Given the description of an element on the screen output the (x, y) to click on. 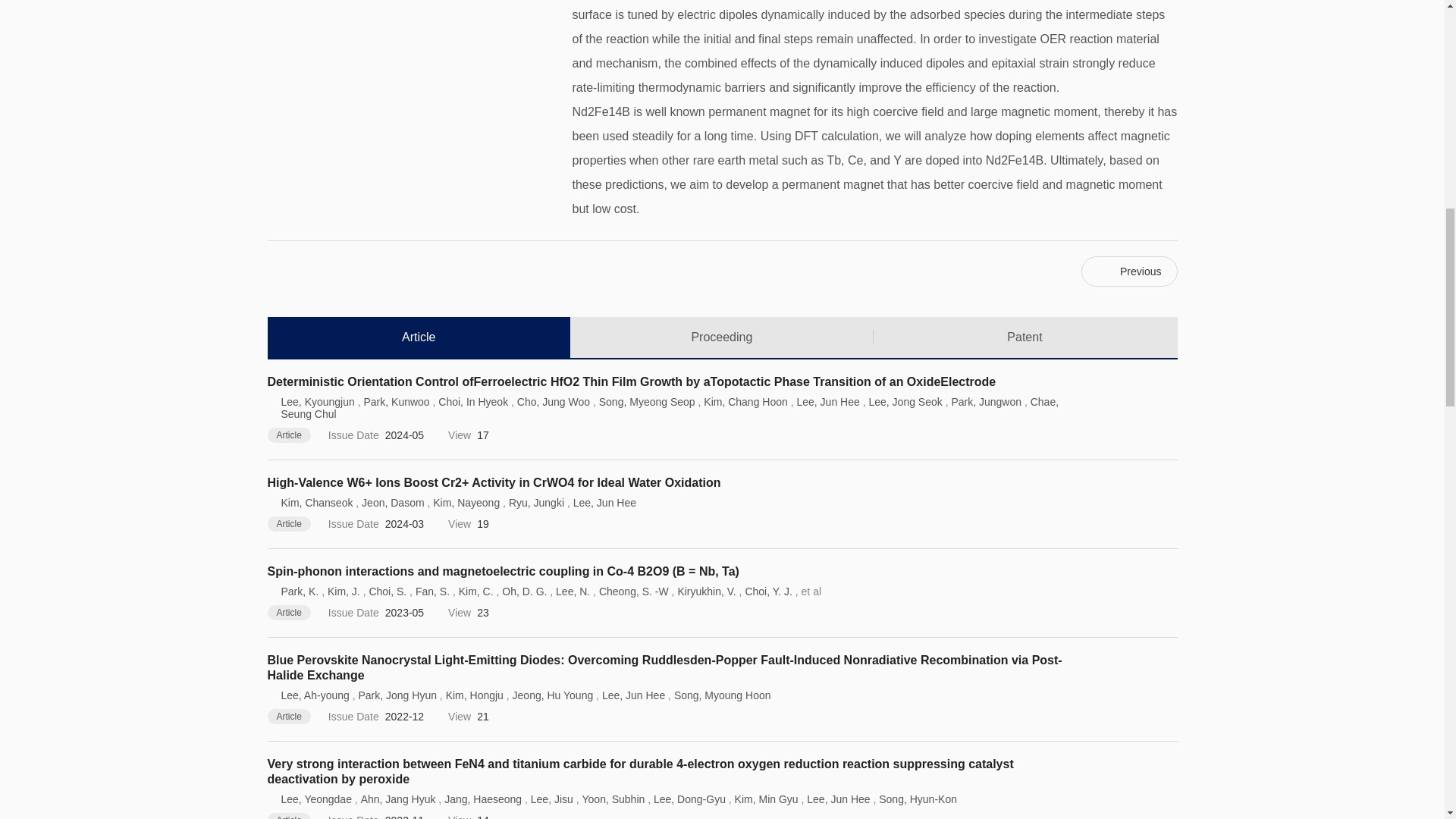
Lee, Kyoungjun (317, 401)
Chae, Seung Chul (669, 407)
Cho, Jung Woo (552, 401)
File (752, 482)
Park, Kunwoo (395, 401)
File (1007, 382)
Kim, Nayeong (465, 502)
Lee, Jong Seok (904, 401)
Jeon, Dasom (392, 502)
Article (418, 336)
Park, Jungwon (986, 401)
Patent (1024, 336)
Proceeding (721, 336)
Lee, Jun Hee (827, 401)
